Given the description of an element on the screen output the (x, y) to click on. 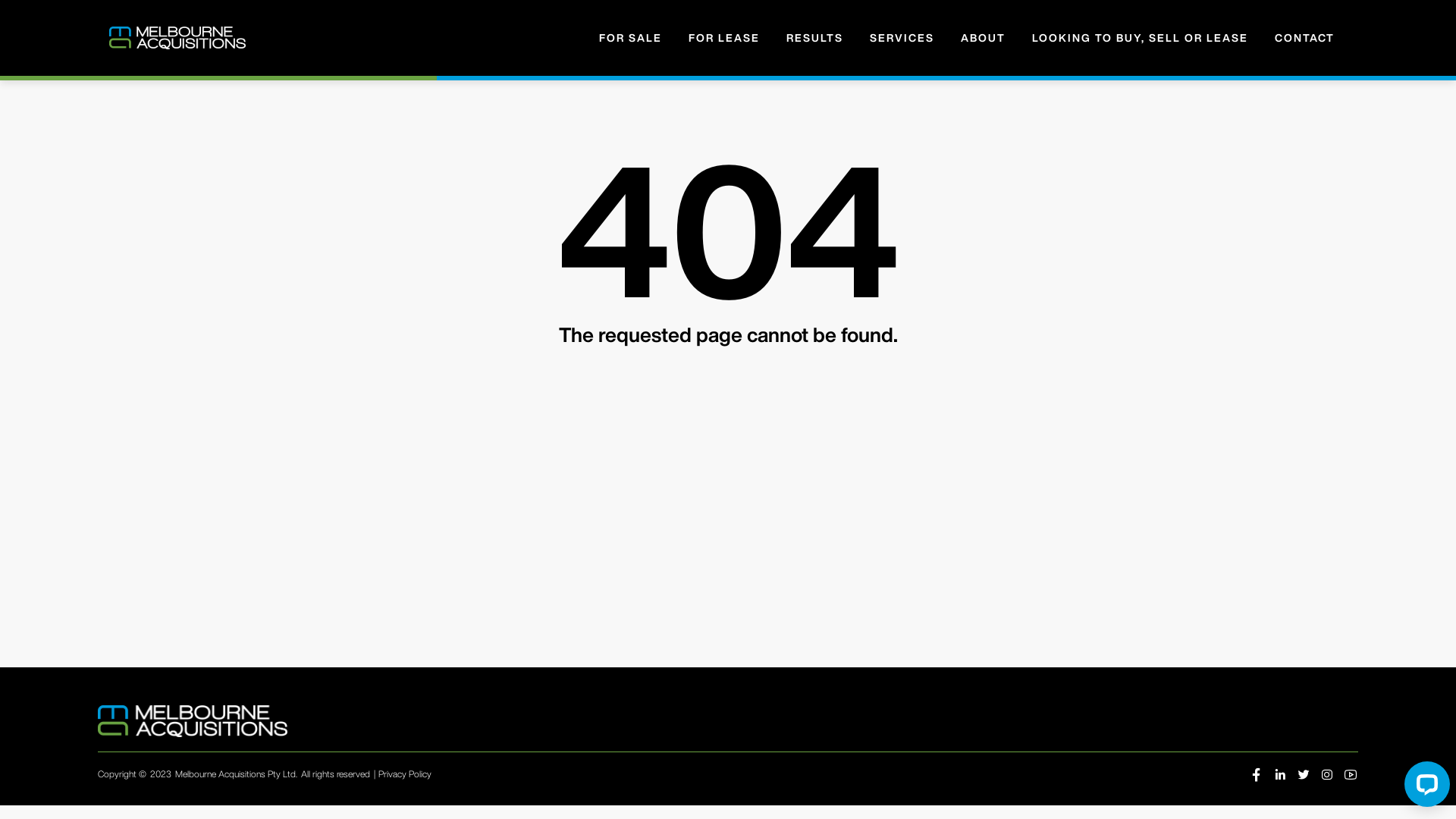
CONTACT Element type: text (1304, 37)
RESULTS Element type: text (814, 37)
FOR LEASE Element type: text (723, 37)
Privacy Policy Element type: text (404, 773)
ABOUT Element type: text (982, 37)
FOR SALE Element type: text (630, 37)
SERVICES Element type: text (901, 37)
LOOKING TO BUY, SELL OR LEASE Element type: text (1139, 37)
